Given the description of an element on the screen output the (x, y) to click on. 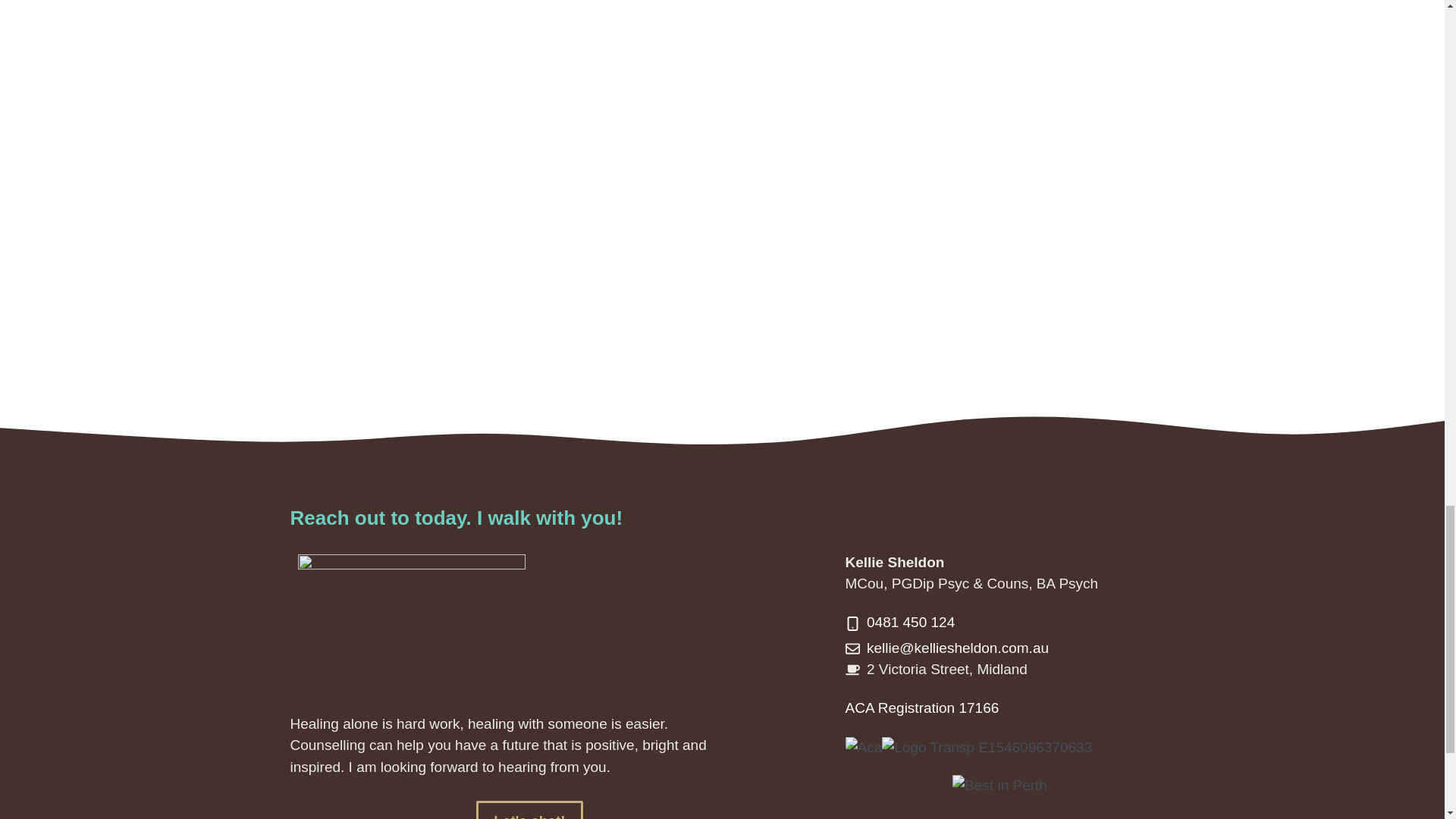
aca (863, 748)
logo-transp-e1546096370633 (987, 748)
Let's chat! (529, 809)
0481 450 124 (910, 621)
